Given the description of an element on the screen output the (x, y) to click on. 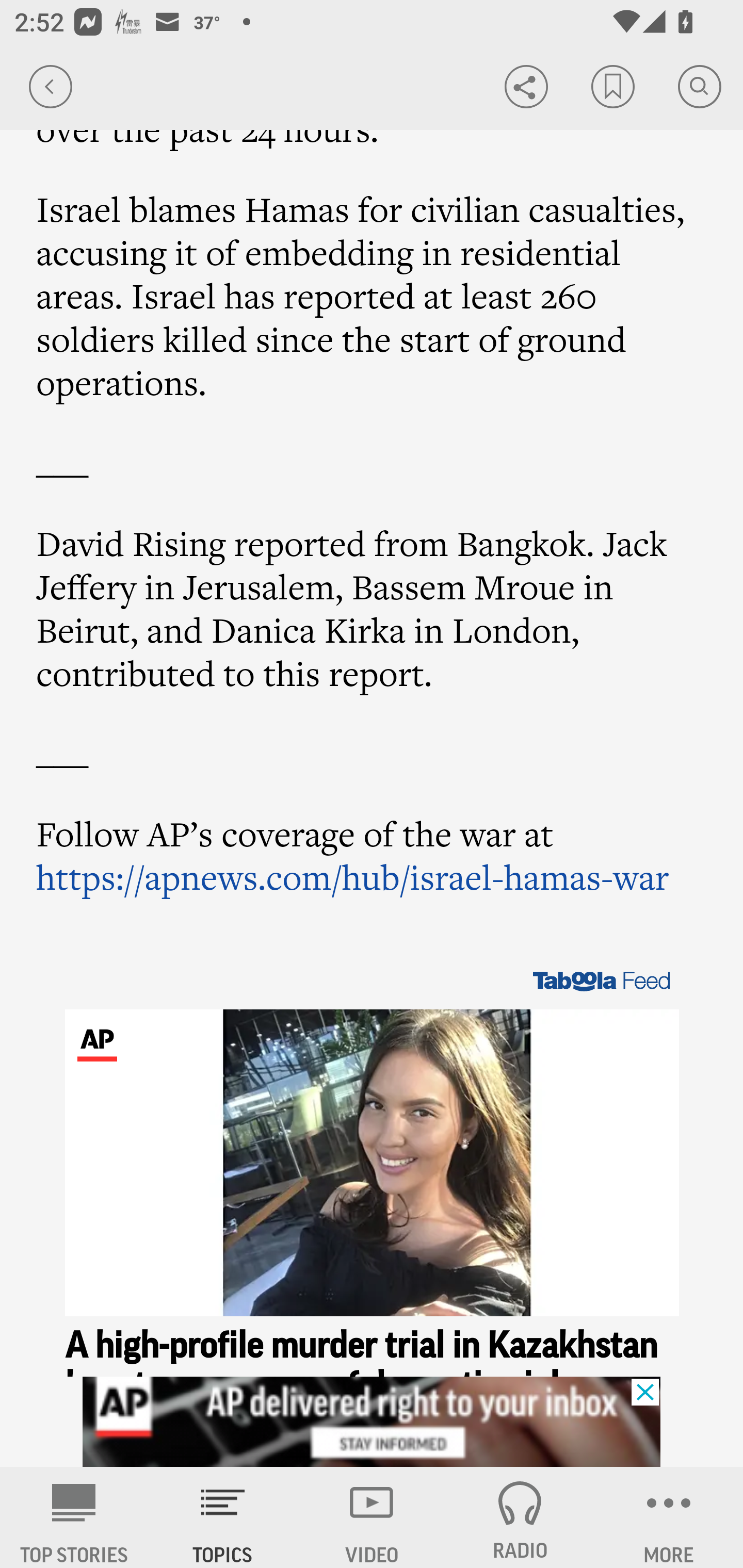
https://apnews.com/hub/israel-hamas-war (352, 876)
Image for Taboola Advertising Unit (372, 1163)
AP News TOP STORIES (74, 1517)
TOPICS (222, 1517)
VIDEO (371, 1517)
RADIO (519, 1517)
MORE (668, 1517)
